Given the description of an element on the screen output the (x, y) to click on. 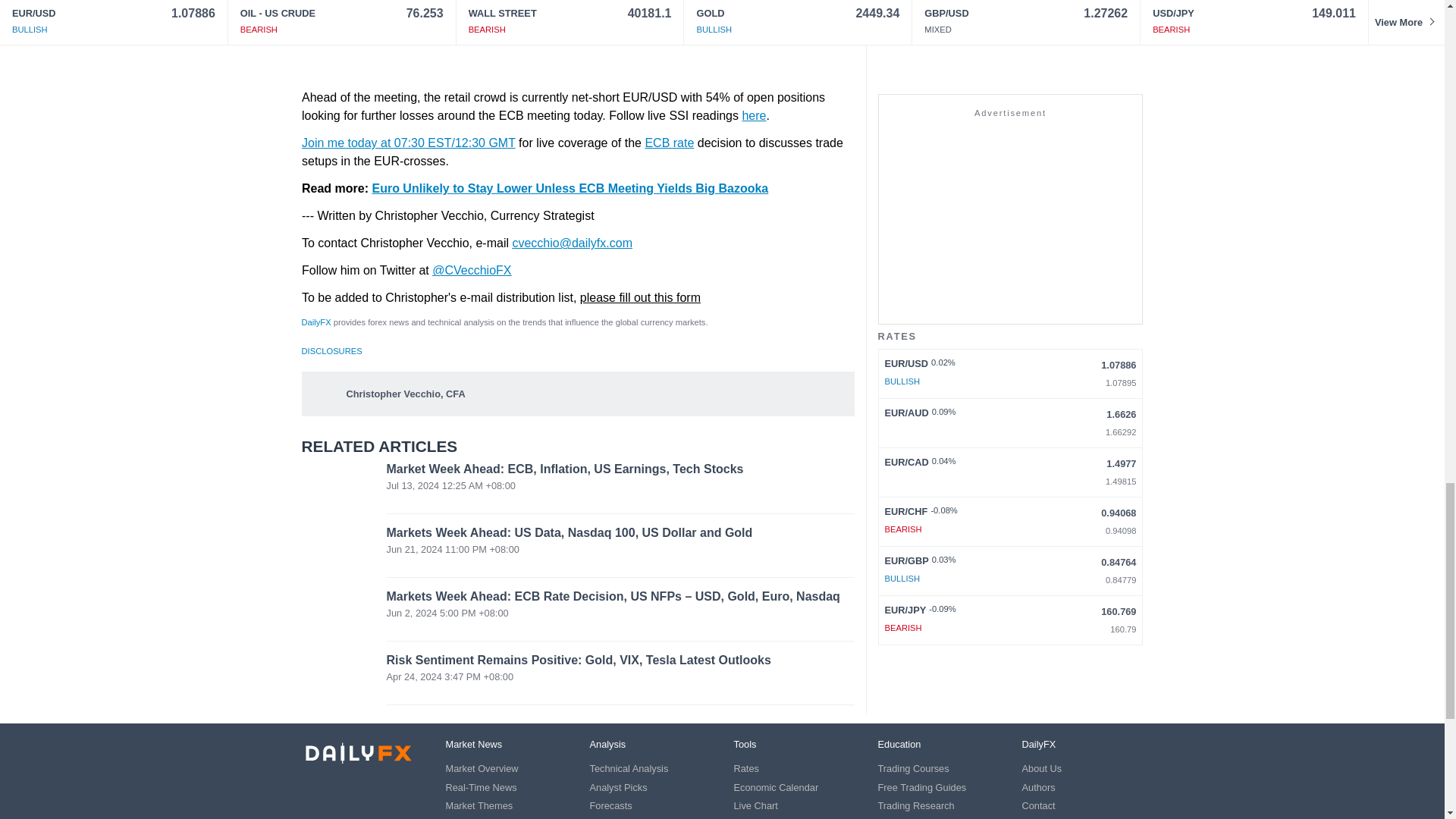
Rates (745, 767)
Tools (745, 744)
Market Overview (481, 767)
Live Chart (755, 805)
Market News (473, 744)
Technical Analysis (628, 767)
Forecasts (610, 805)
Market Themes (479, 805)
ECB rate (669, 142)
Analyst Picks (618, 787)
Analysis (607, 744)
Economic Calendar (775, 787)
Market Outlook (622, 818)
Real-Time News (480, 787)
